Given the description of an element on the screen output the (x, y) to click on. 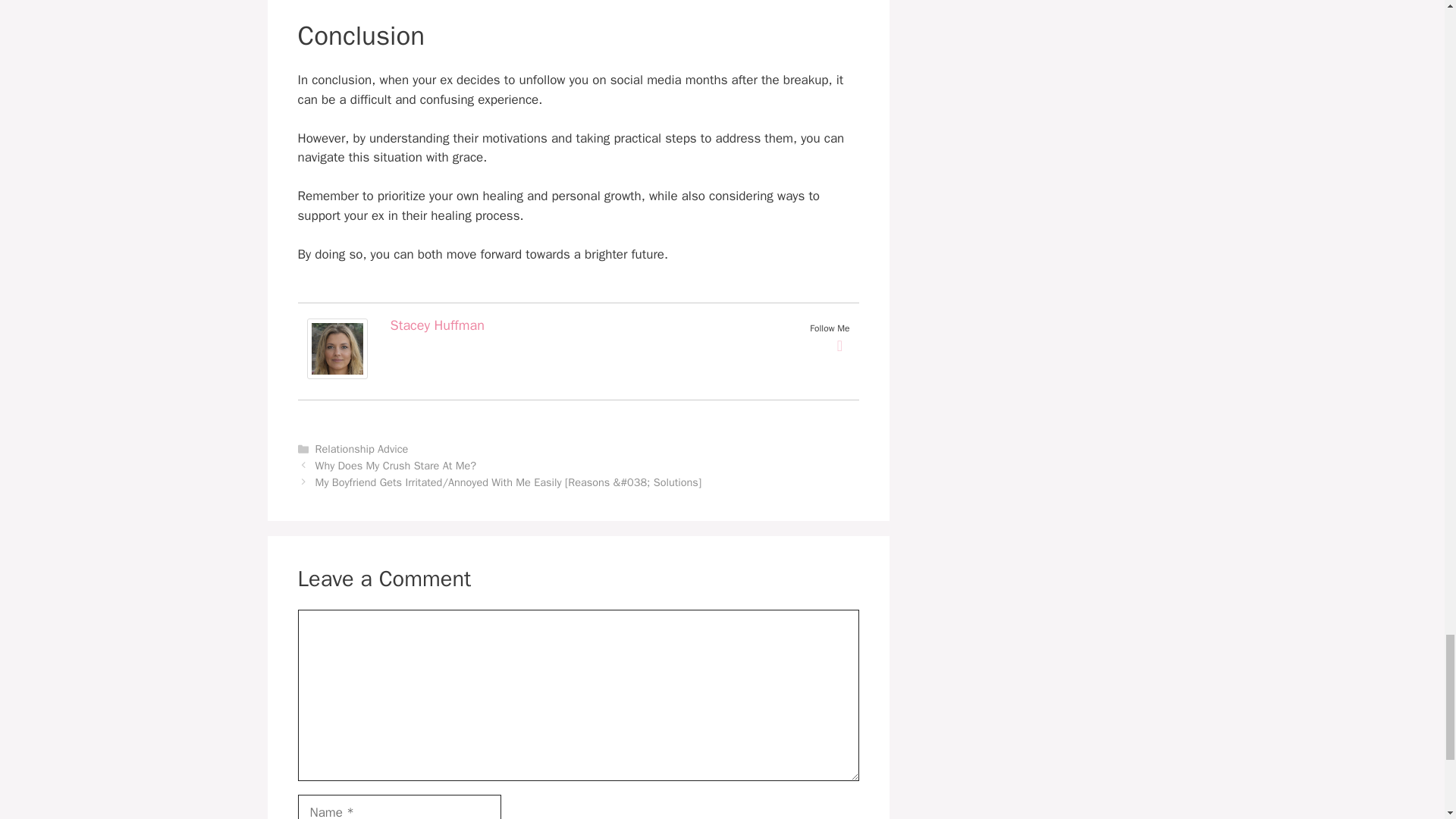
Stacey Huffman (436, 324)
Twitter (839, 345)
Stacey Huffman (335, 374)
Relationship Advice (362, 448)
Why Does My Crush Stare At Me? (396, 465)
